Given the description of an element on the screen output the (x, y) to click on. 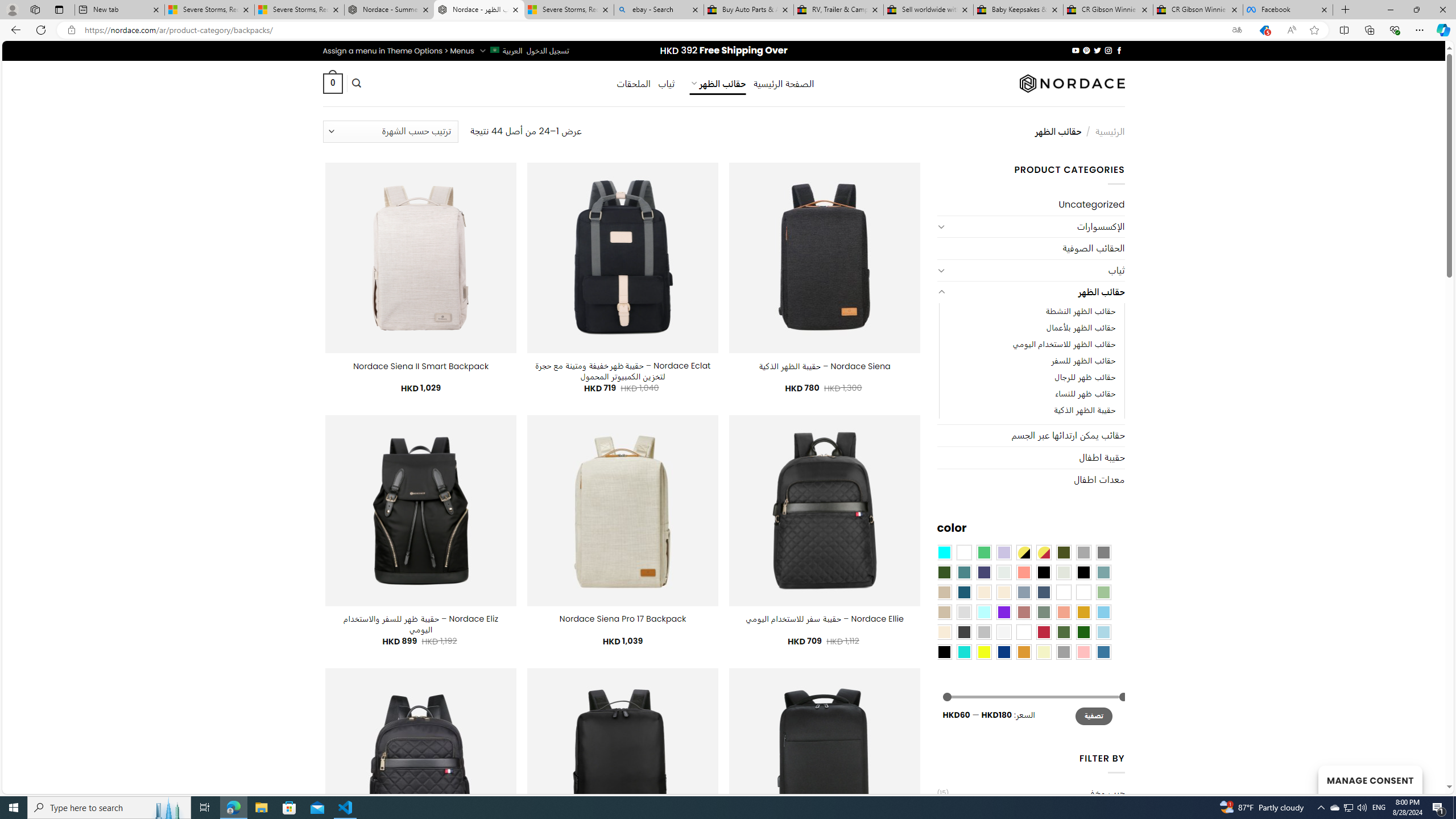
 0  (332, 83)
This site has coupons! Shopping in Microsoft Edge, 5 (1263, 29)
